Given the description of an element on the screen output the (x, y) to click on. 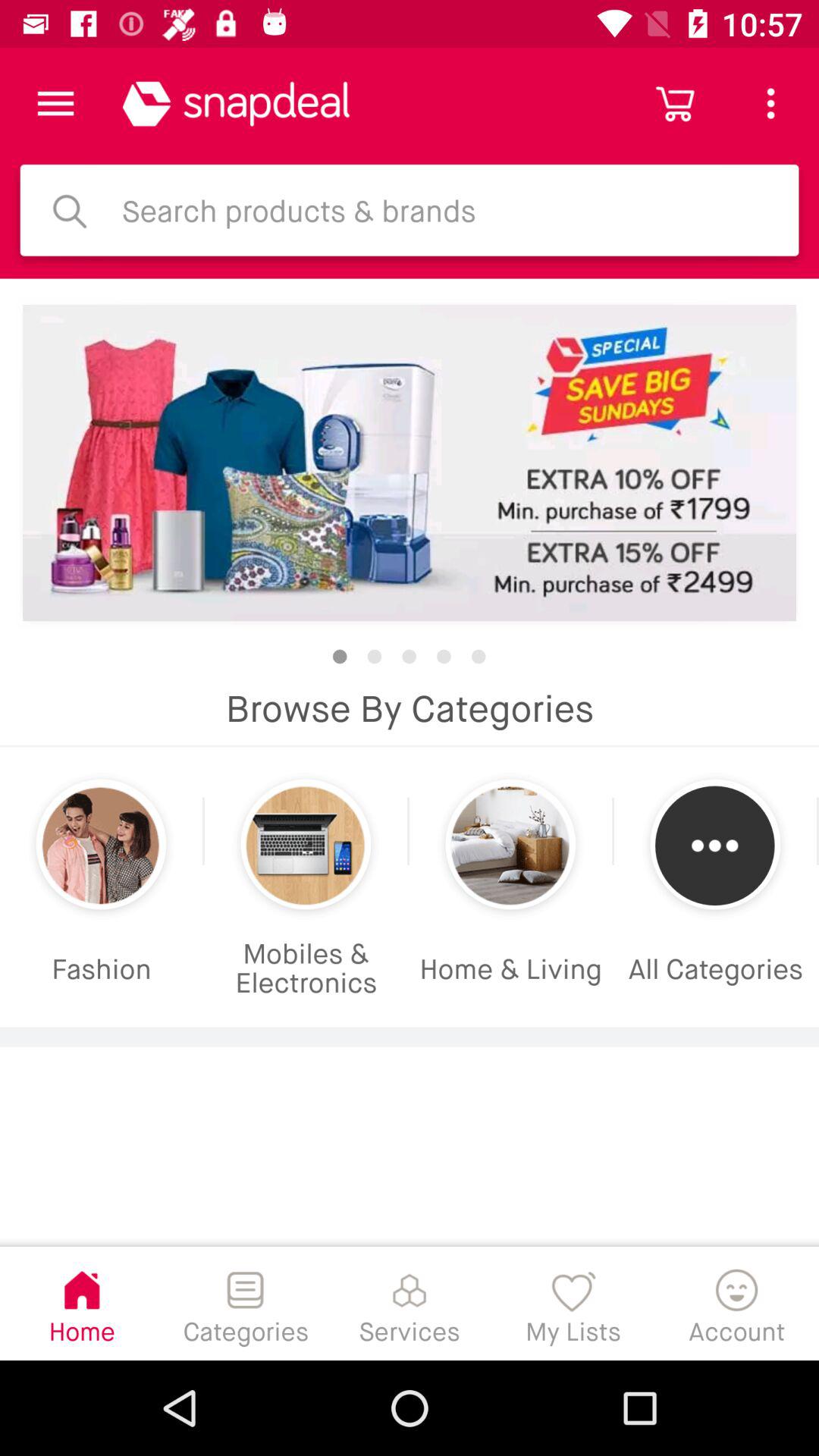
choose the item next to the my lists icon (737, 1303)
